Given the description of an element on the screen output the (x, y) to click on. 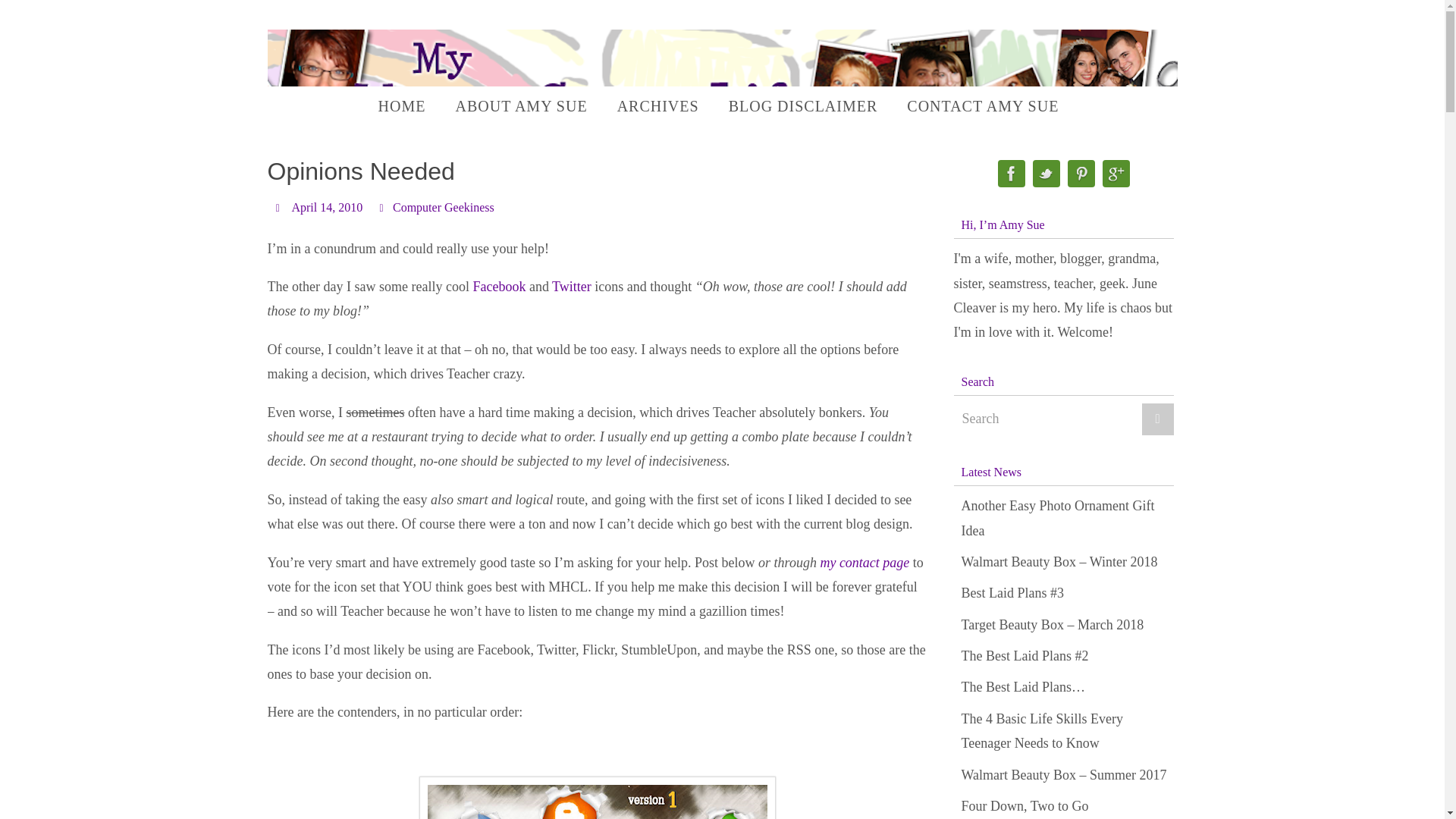
Follow Me on Twitter Now! (572, 286)
ABOUT AMY SUE (520, 106)
Categories (383, 206)
April 14, 2010 (326, 207)
Join us on Facebook Now! (499, 286)
Twitter (572, 286)
my contact page (863, 562)
ARCHIVES (658, 106)
Date (278, 206)
BLOG DISCLAIMER (802, 106)
